Given the description of an element on the screen output the (x, y) to click on. 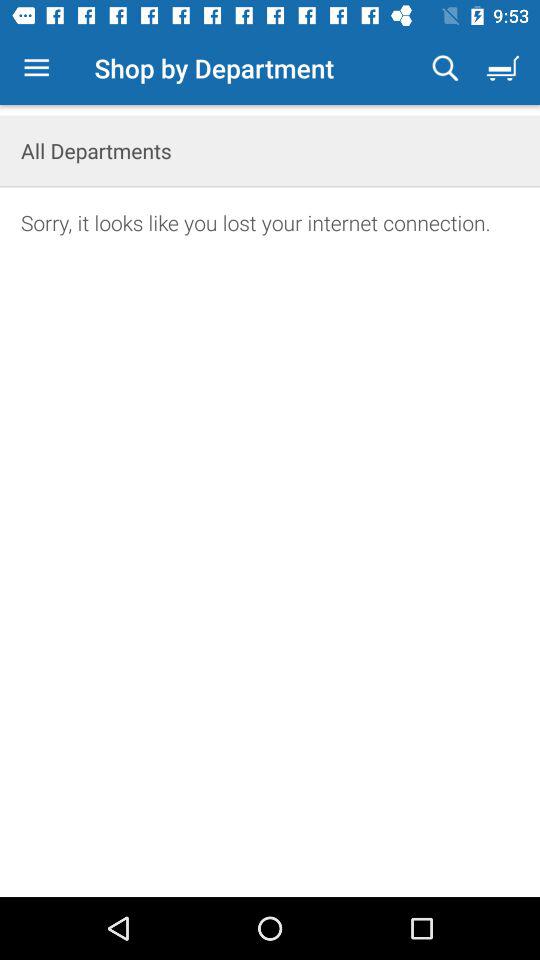
open icon below the sorry it looks item (270, 577)
